Given the description of an element on the screen output the (x, y) to click on. 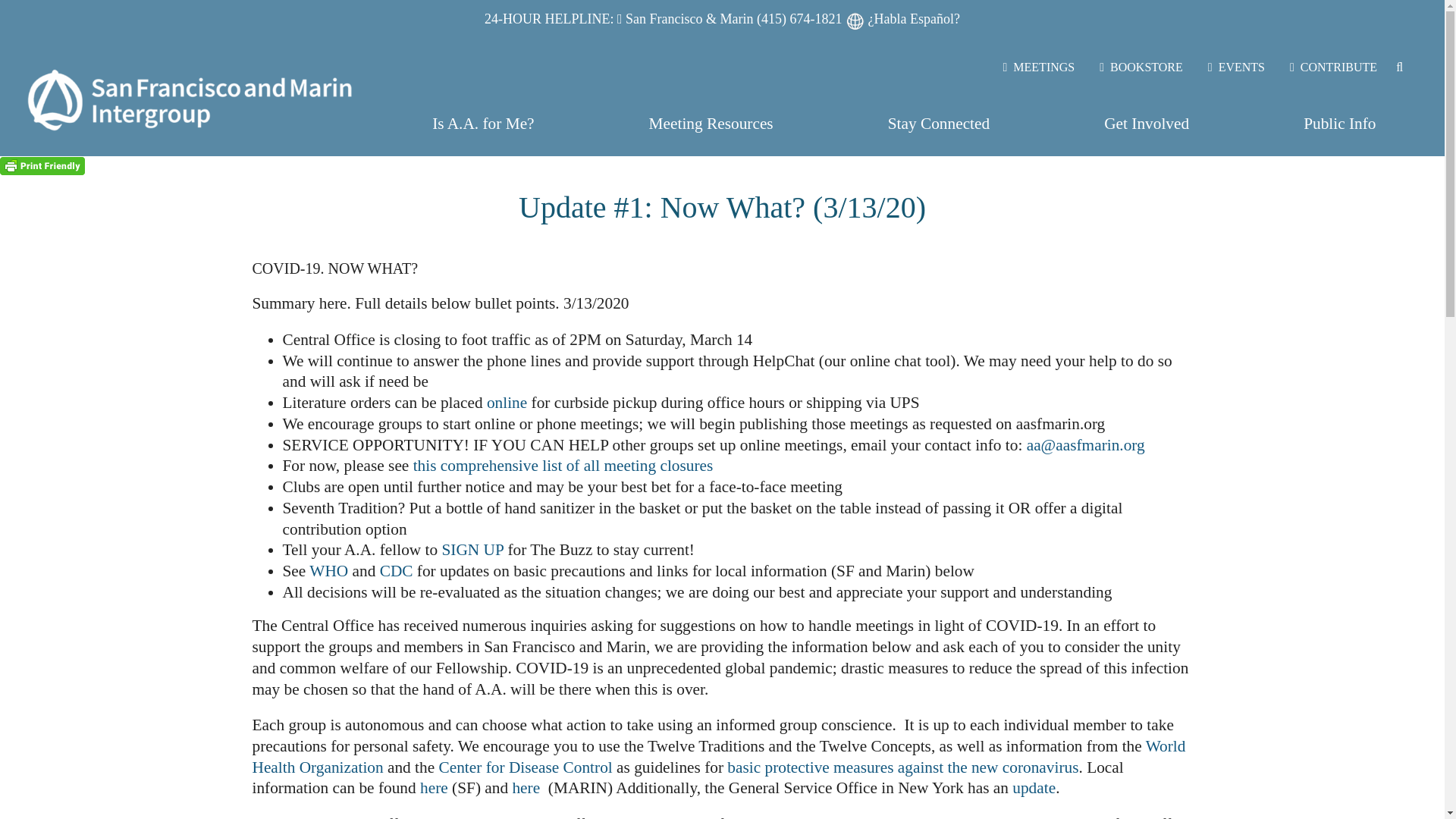
Meeting Resources (711, 123)
CONTRIBUTE (1340, 67)
EVENTS (1243, 67)
BOOKSTORE (1147, 67)
Is A.A. for Me? (483, 123)
Stay Connected (938, 123)
Get Involved (1146, 123)
MEETINGS (1044, 67)
Public Info (1339, 123)
Search (1409, 67)
